Given the description of an element on the screen output the (x, y) to click on. 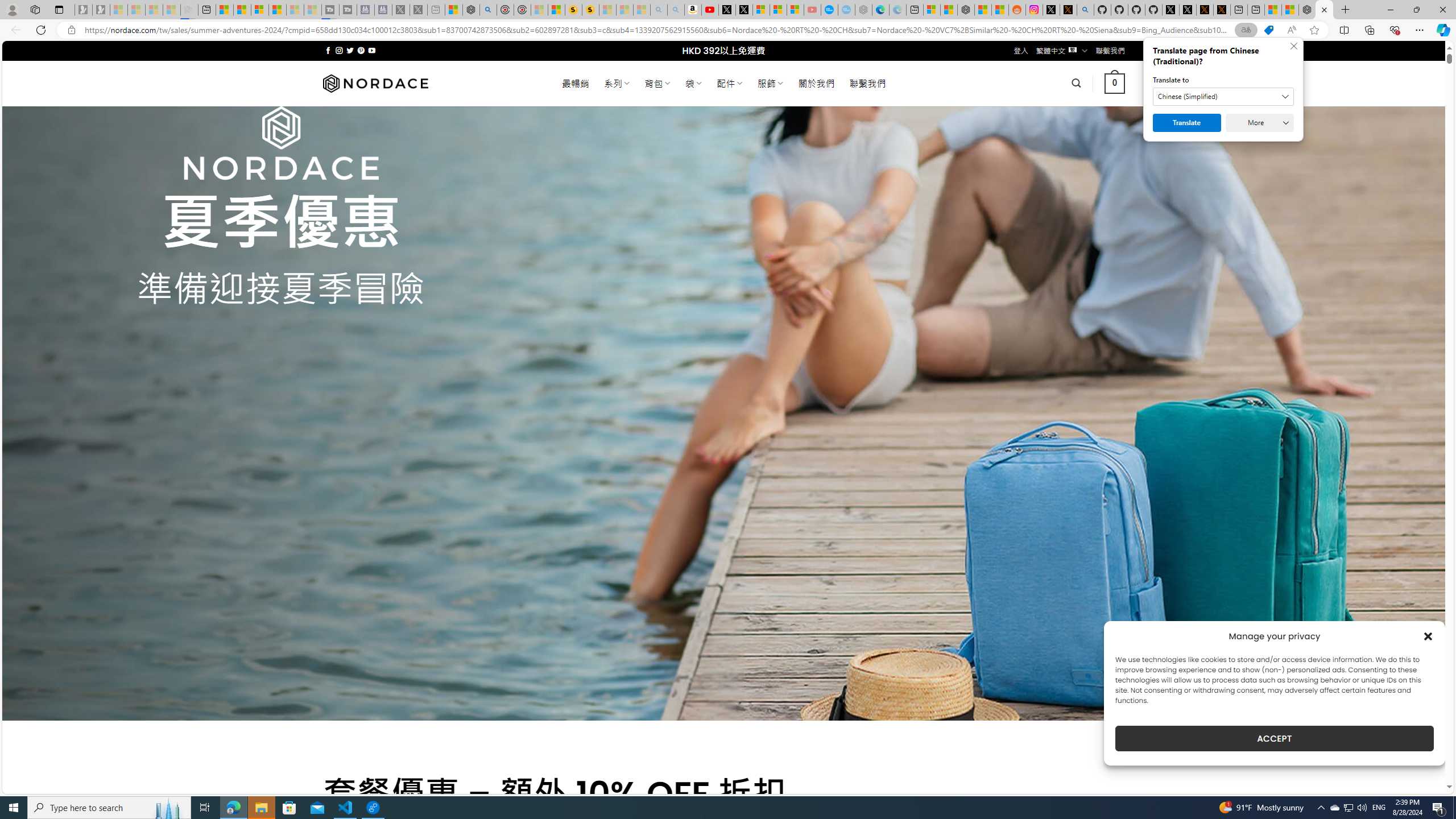
Profile / X (1170, 9)
